Given the description of an element on the screen output the (x, y) to click on. 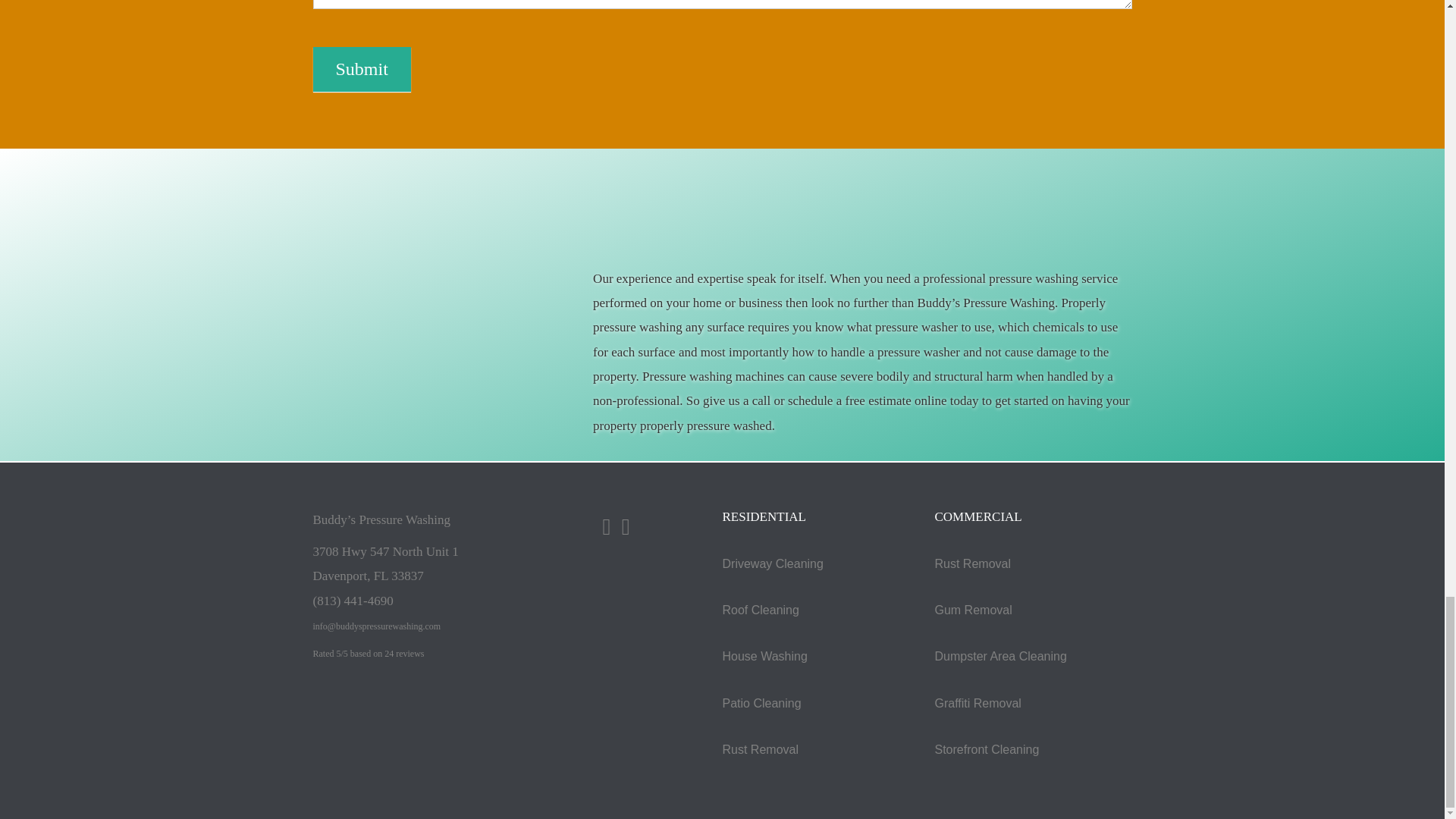
Submit (361, 68)
